Given the description of an element on the screen output the (x, y) to click on. 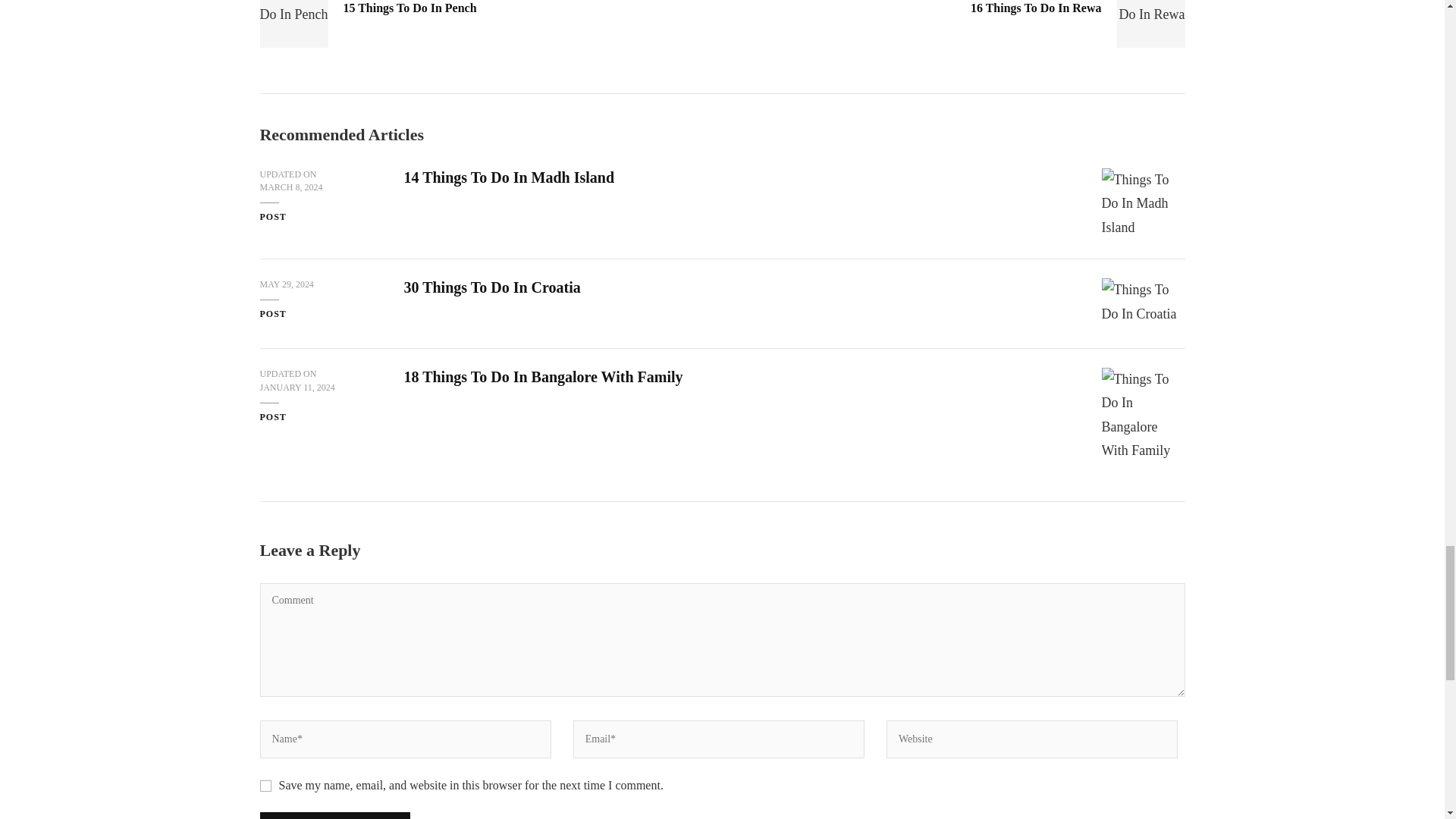
Post Comment (334, 815)
